Given the description of an element on the screen output the (x, y) to click on. 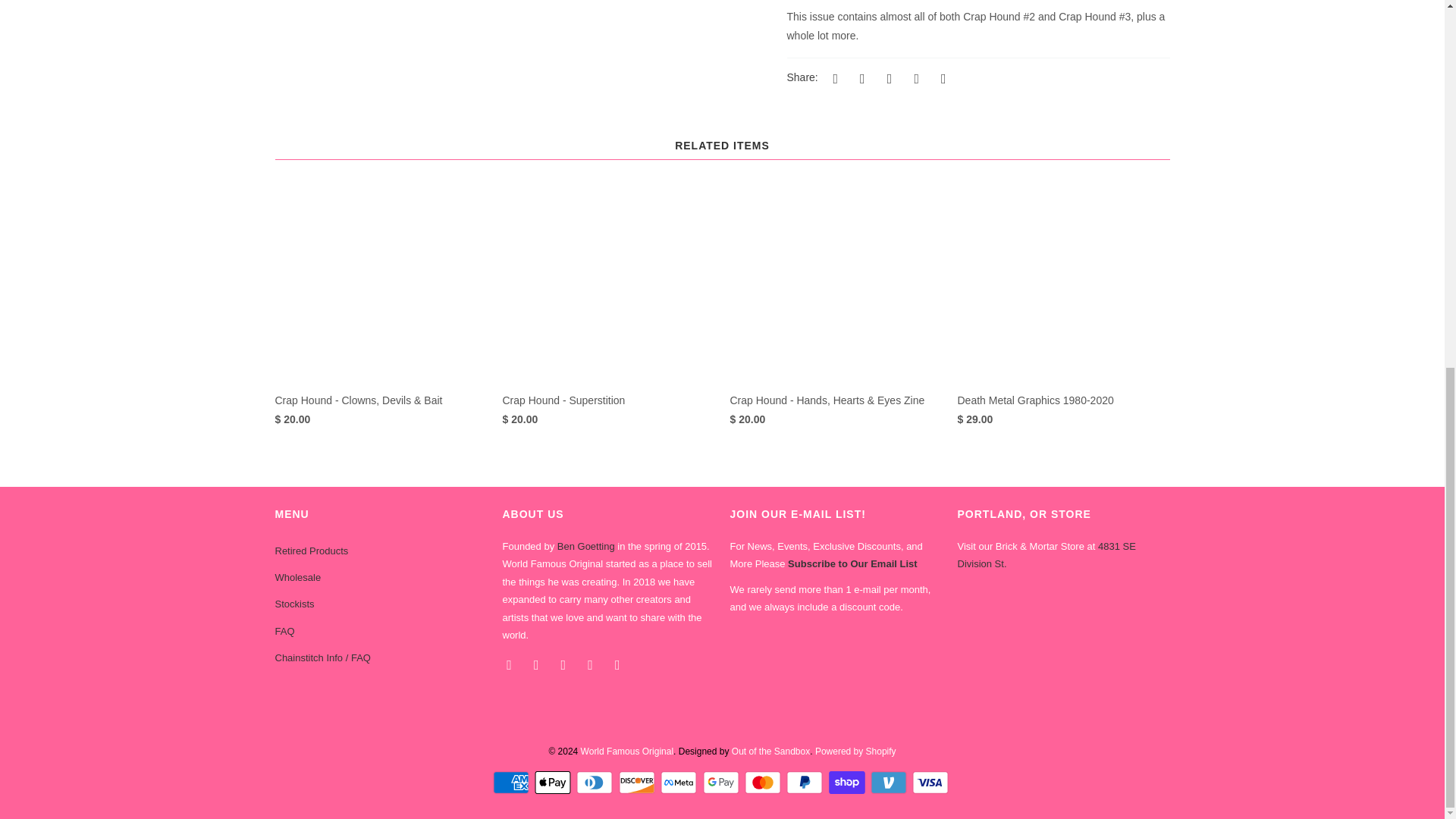
PayPal (805, 782)
Share this on Facebook (859, 77)
Diners Club (595, 782)
Meta Pay (680, 782)
American Express (512, 782)
Visa (932, 782)
Share this on Twitter (833, 77)
Discover (638, 782)
Mastercard (764, 782)
Shop Pay (847, 782)
